Given the description of an element on the screen output the (x, y) to click on. 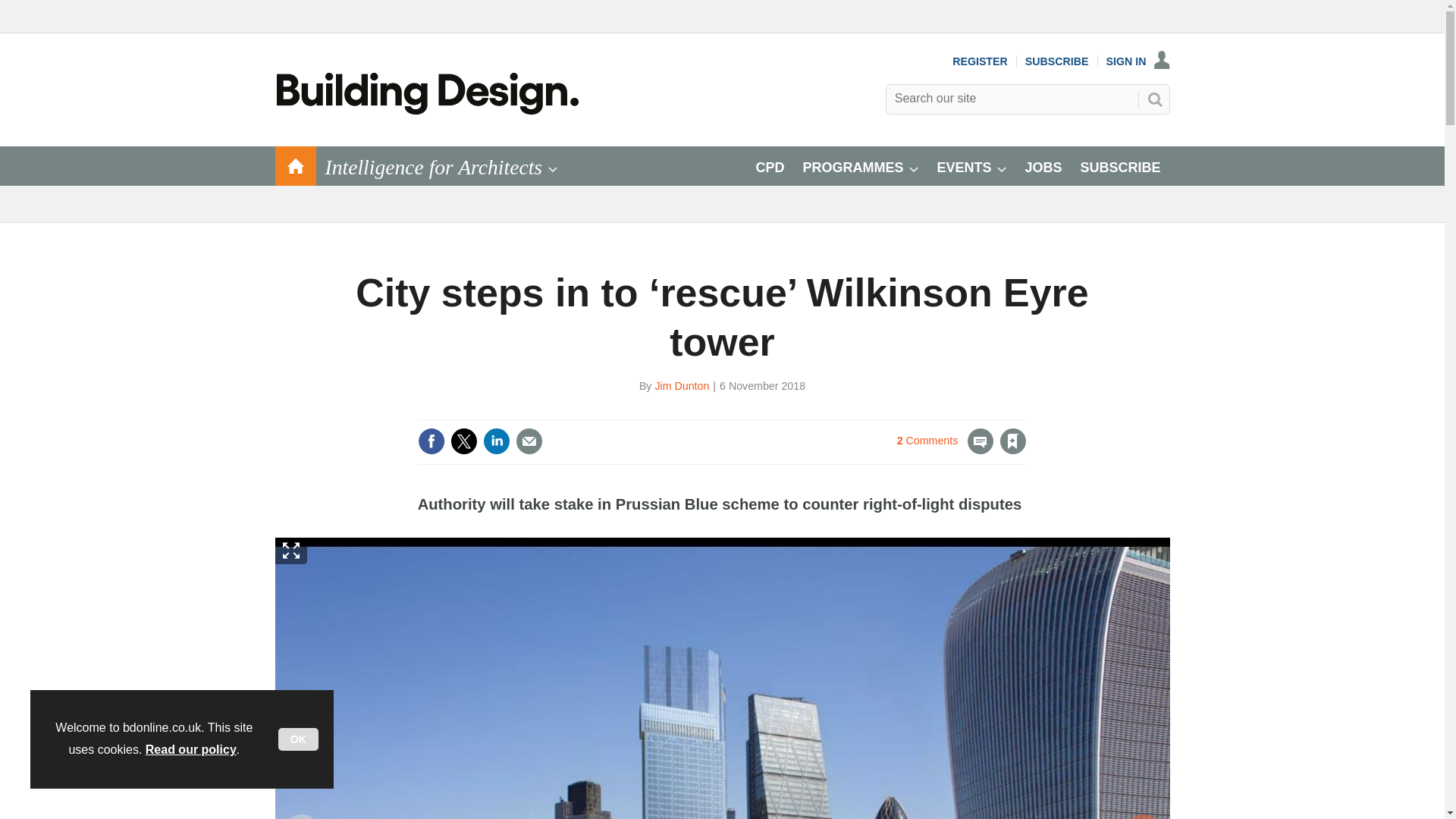
Share this on Linked in (497, 441)
OK (298, 739)
Email this article (529, 441)
Share this on Facebook (431, 441)
Read our policy (190, 748)
2 Comments (945, 450)
SEARCH (1153, 98)
SUBSCRIBE (1057, 61)
SIGN IN (1138, 61)
REGISTER (979, 61)
